Given the description of an element on the screen output the (x, y) to click on. 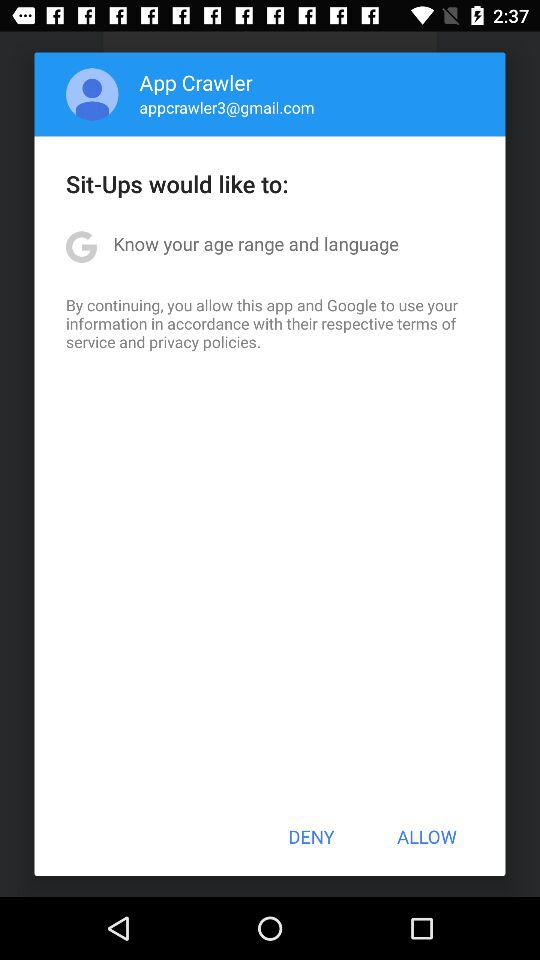
scroll to the appcrawler3@gmail.com item (226, 107)
